Given the description of an element on the screen output the (x, y) to click on. 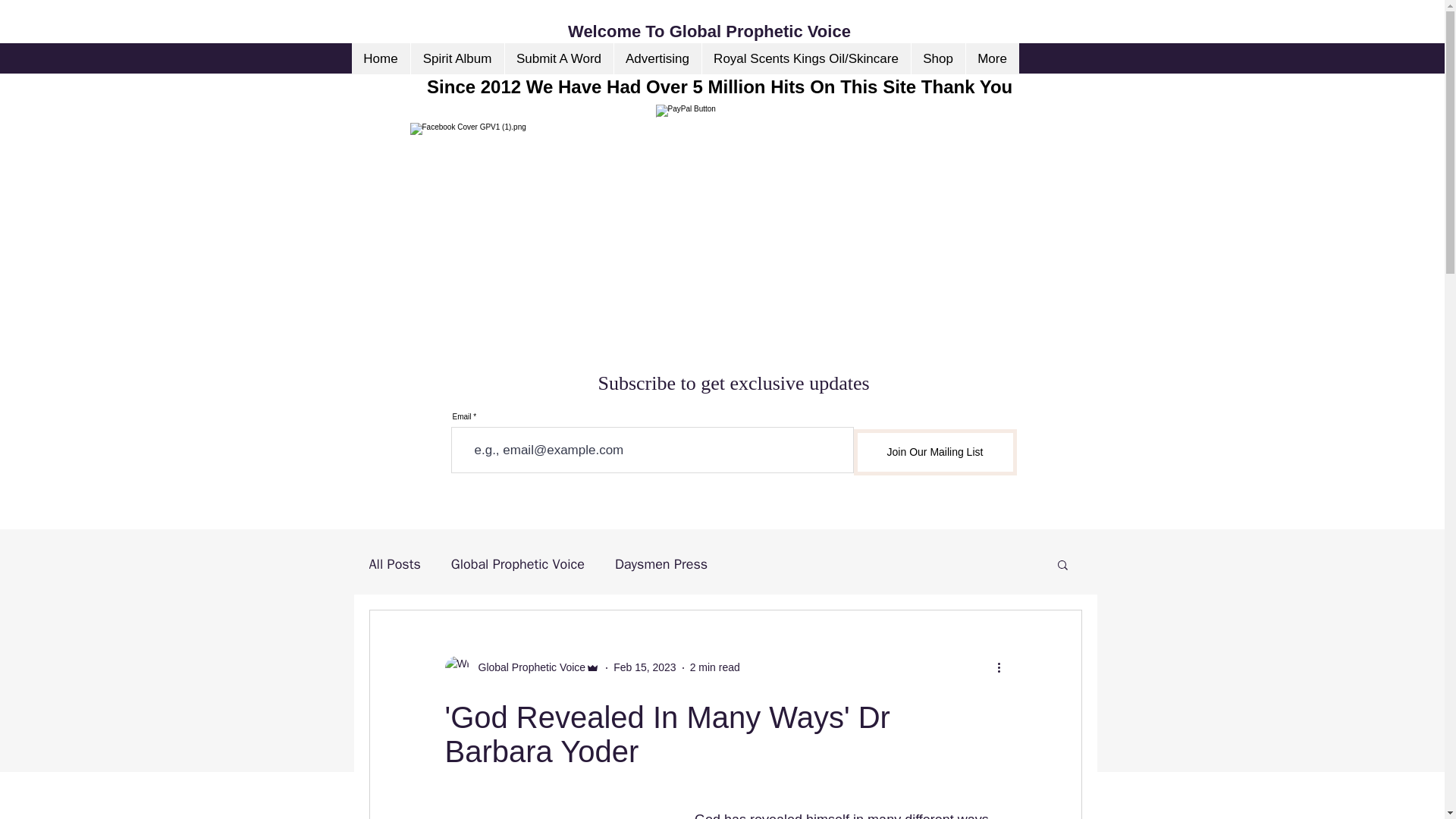
Submit A Word (557, 58)
Join Our Mailing List (934, 452)
Welcome To Global Prophetic Voice  (711, 31)
Feb 15, 2023 (644, 666)
Daysmen Press (660, 564)
Global Prophetic Voice (518, 564)
Spirit Album (456, 58)
Global Prophetic Voice (526, 667)
2 min read (714, 666)
Advertising (656, 58)
